Given the description of an element on the screen output the (x, y) to click on. 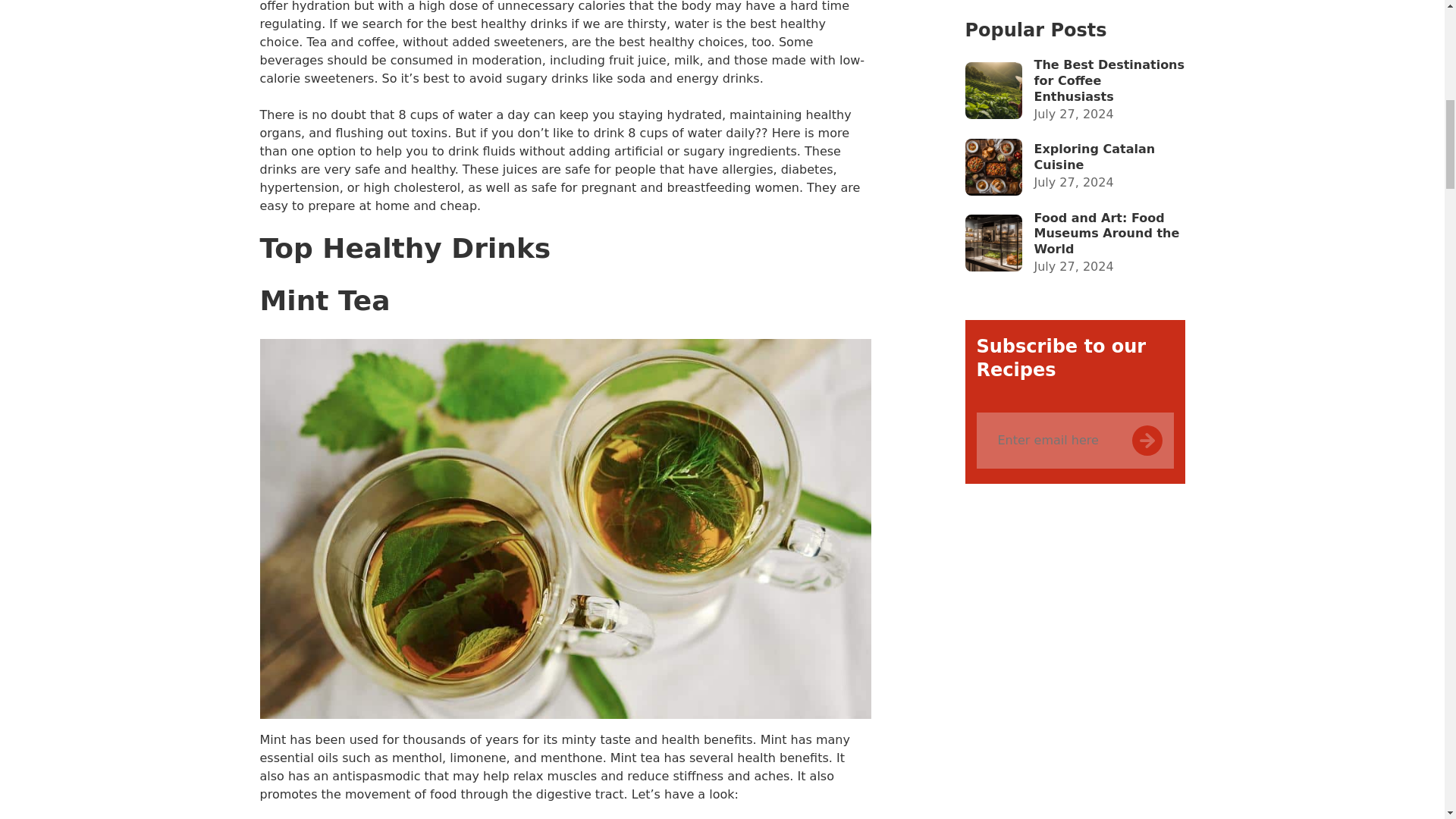
Subscribe (1162, 105)
